Given the description of an element on the screen output the (x, y) to click on. 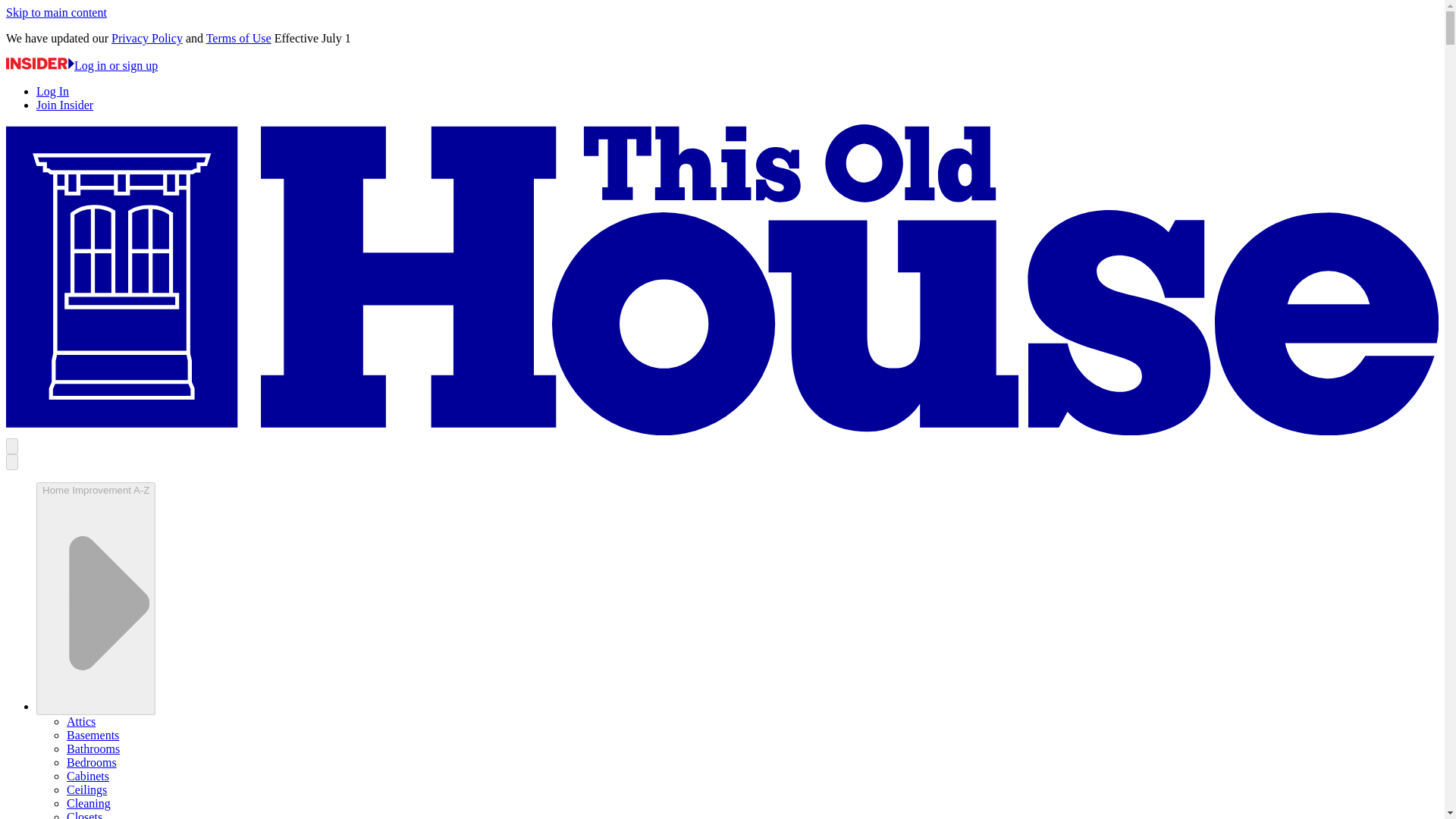
Bathrooms (92, 748)
Privacy Policy (147, 38)
Cabinets (87, 775)
Closets (83, 814)
Terms of Use (238, 38)
Log In (52, 91)
Log in or sign up (81, 65)
Skip to main content (55, 11)
Basements (92, 735)
Attics (81, 721)
